Given the description of an element on the screen output the (x, y) to click on. 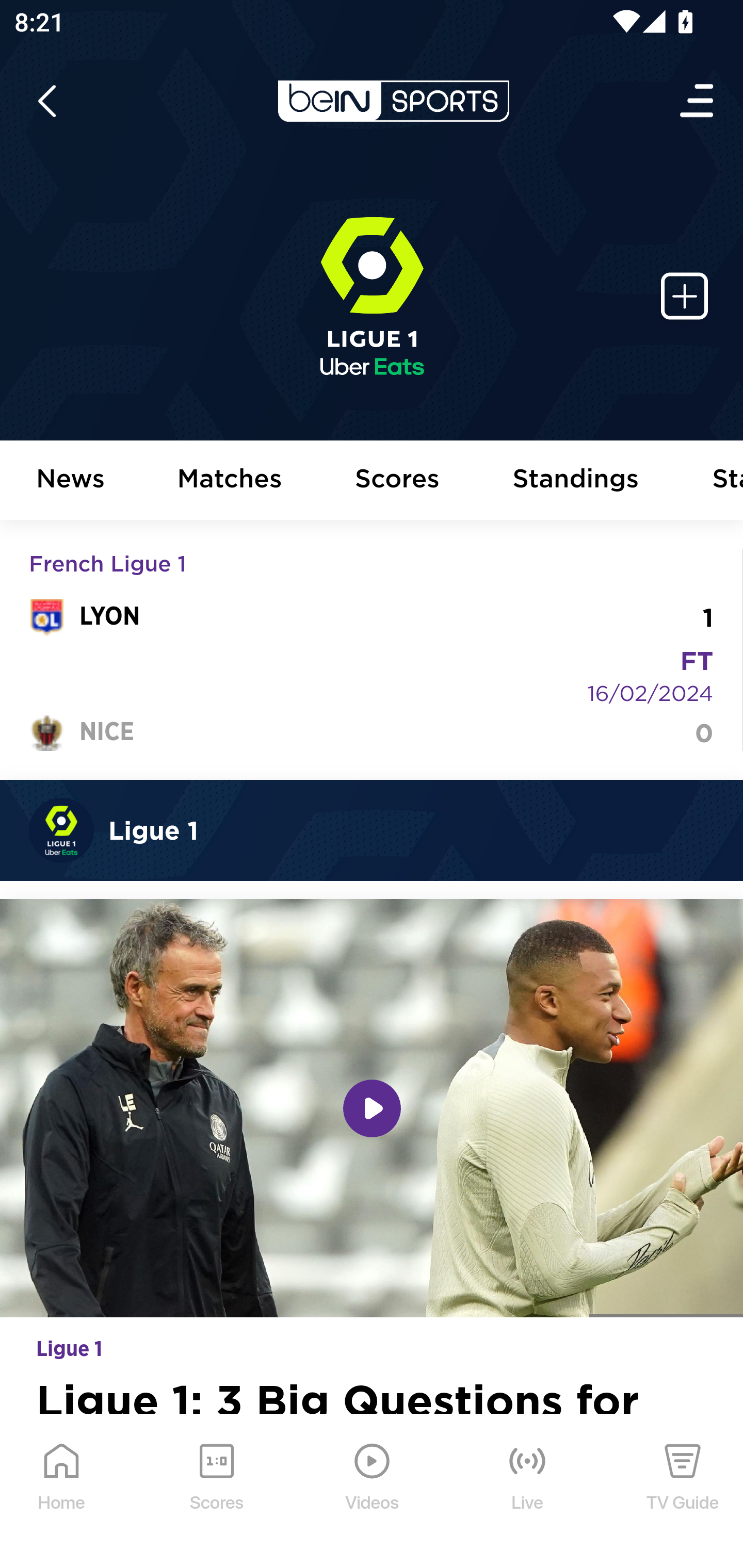
en-us?platform=mobile_android bein logo white (392, 101)
icon back (46, 101)
Open Menu Icon (697, 101)
News (70, 480)
Matches (229, 480)
Scores (397, 480)
Standings (575, 480)
Home Home Icon Home (61, 1491)
Scores Scores Icon Scores (216, 1491)
Videos Videos Icon Videos (372, 1491)
TV Guide TV Guide Icon TV Guide (682, 1491)
